Given the description of an element on the screen output the (x, y) to click on. 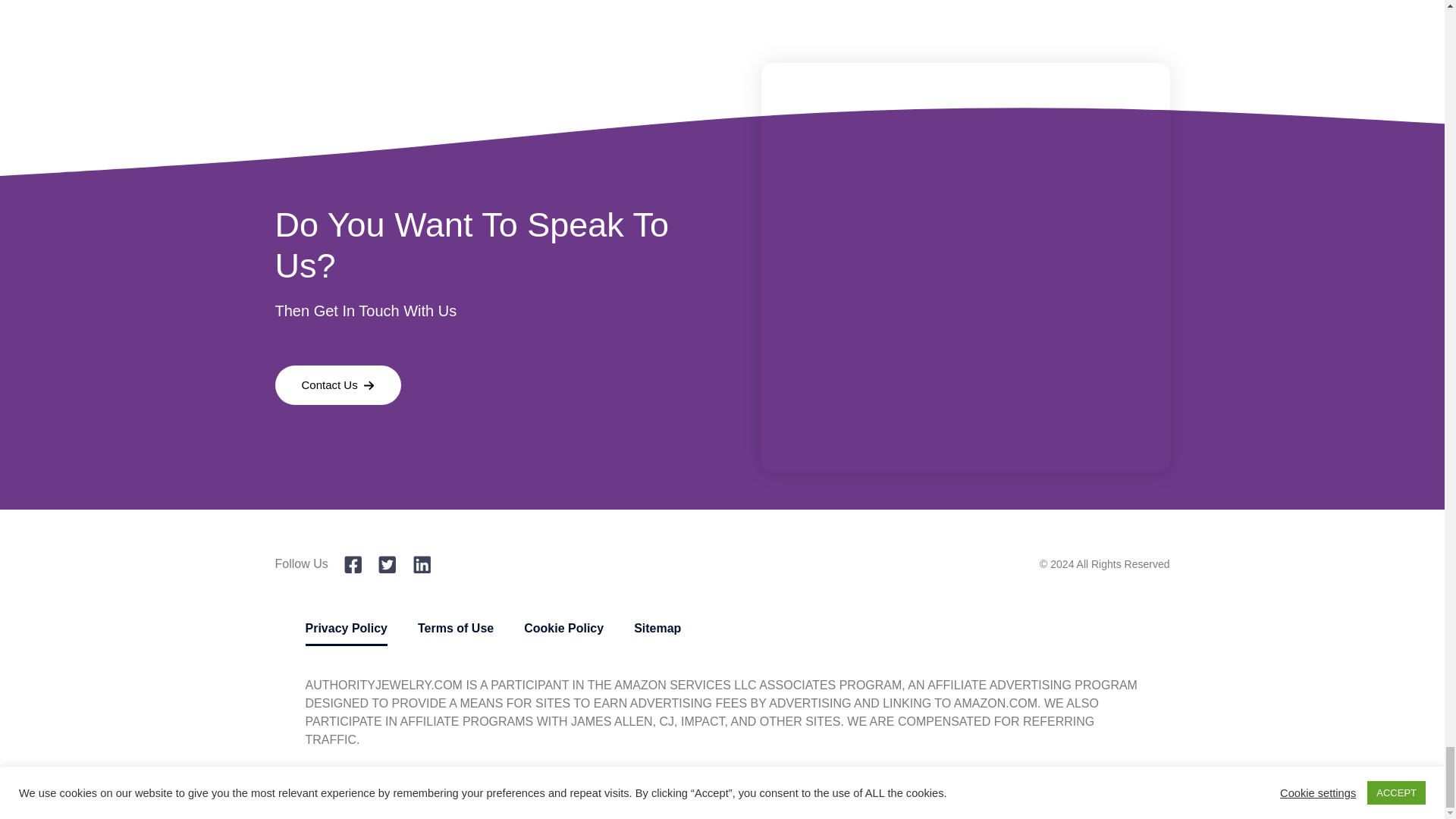
Contact Us (338, 385)
Terms of Use (455, 627)
Cookie Policy (564, 627)
Privacy Policy (345, 627)
